Given the description of an element on the screen output the (x, y) to click on. 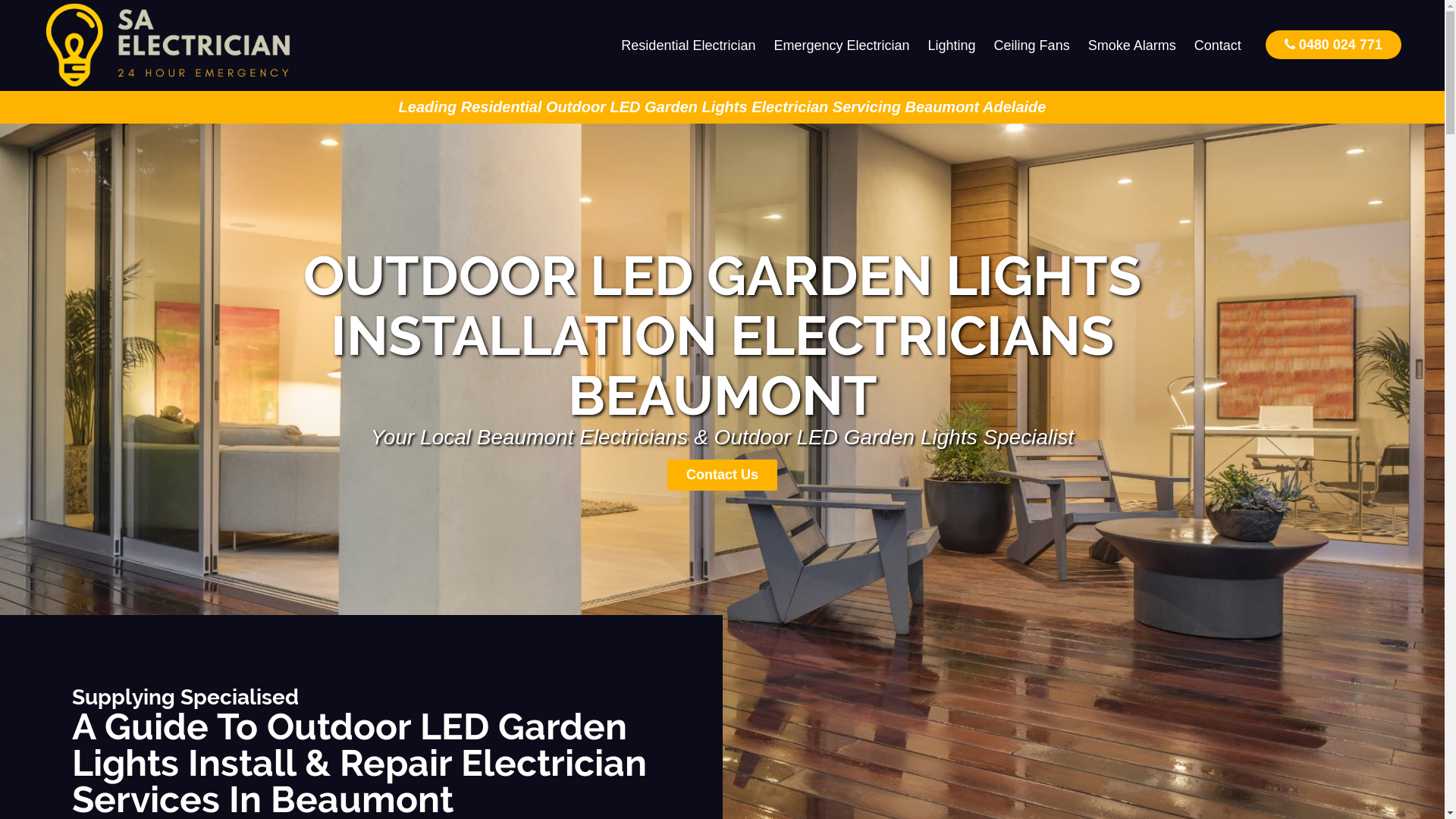
Contact Element type: text (1217, 45)
Ceiling Fans Element type: text (1032, 45)
Lighting Element type: text (952, 45)
Emergency Electrician Element type: text (841, 45)
Smoke Alarms Element type: text (1132, 45)
Contact Us Element type: text (722, 474)
0480 024 771 Element type: text (1333, 44)
Residential Electrician Element type: text (687, 45)
